Given the description of an element on the screen output the (x, y) to click on. 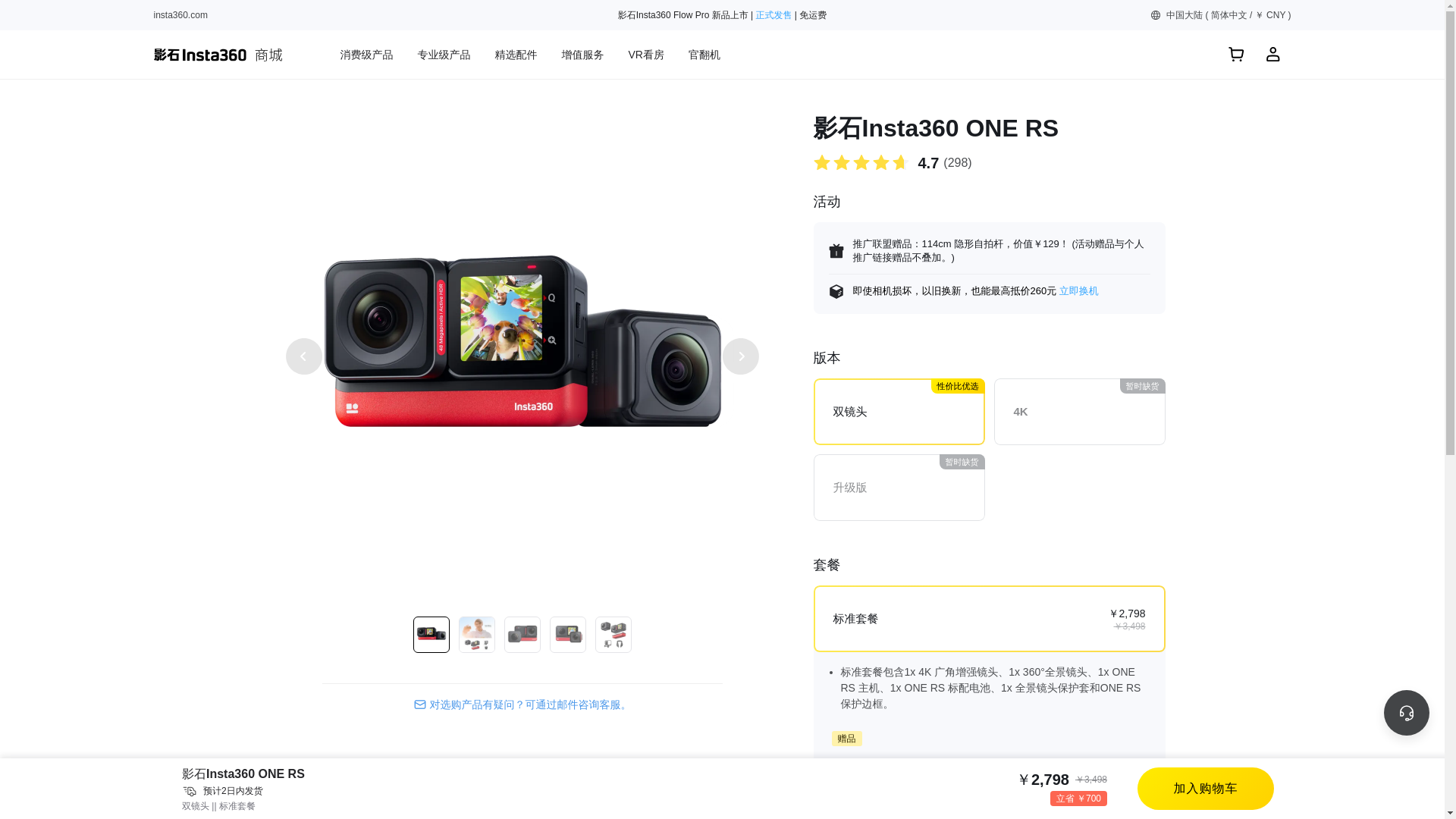
insta360.com (179, 15)
